Given the description of an element on the screen output the (x, y) to click on. 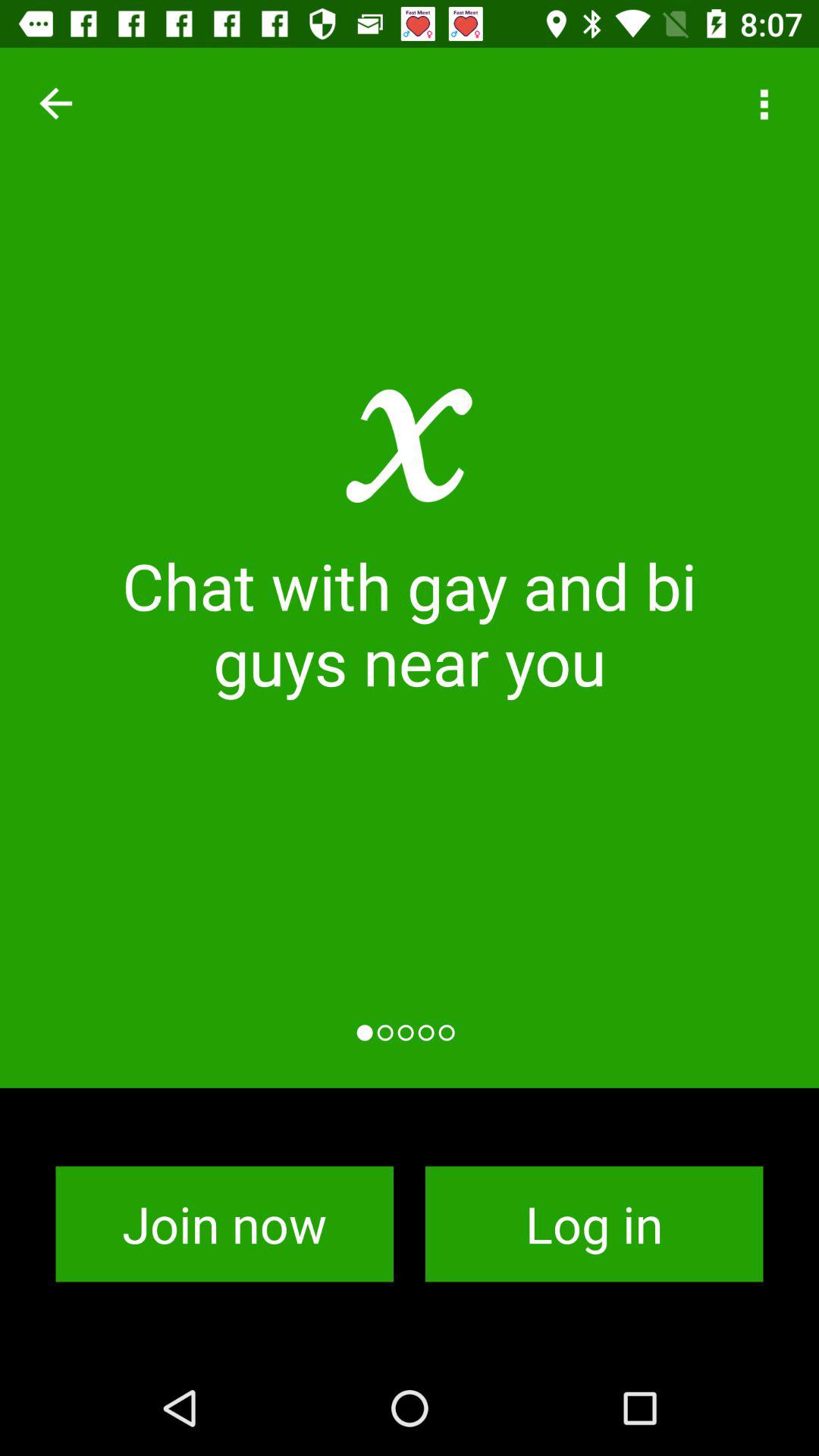
tap item at the top left corner (55, 103)
